Given the description of an element on the screen output the (x, y) to click on. 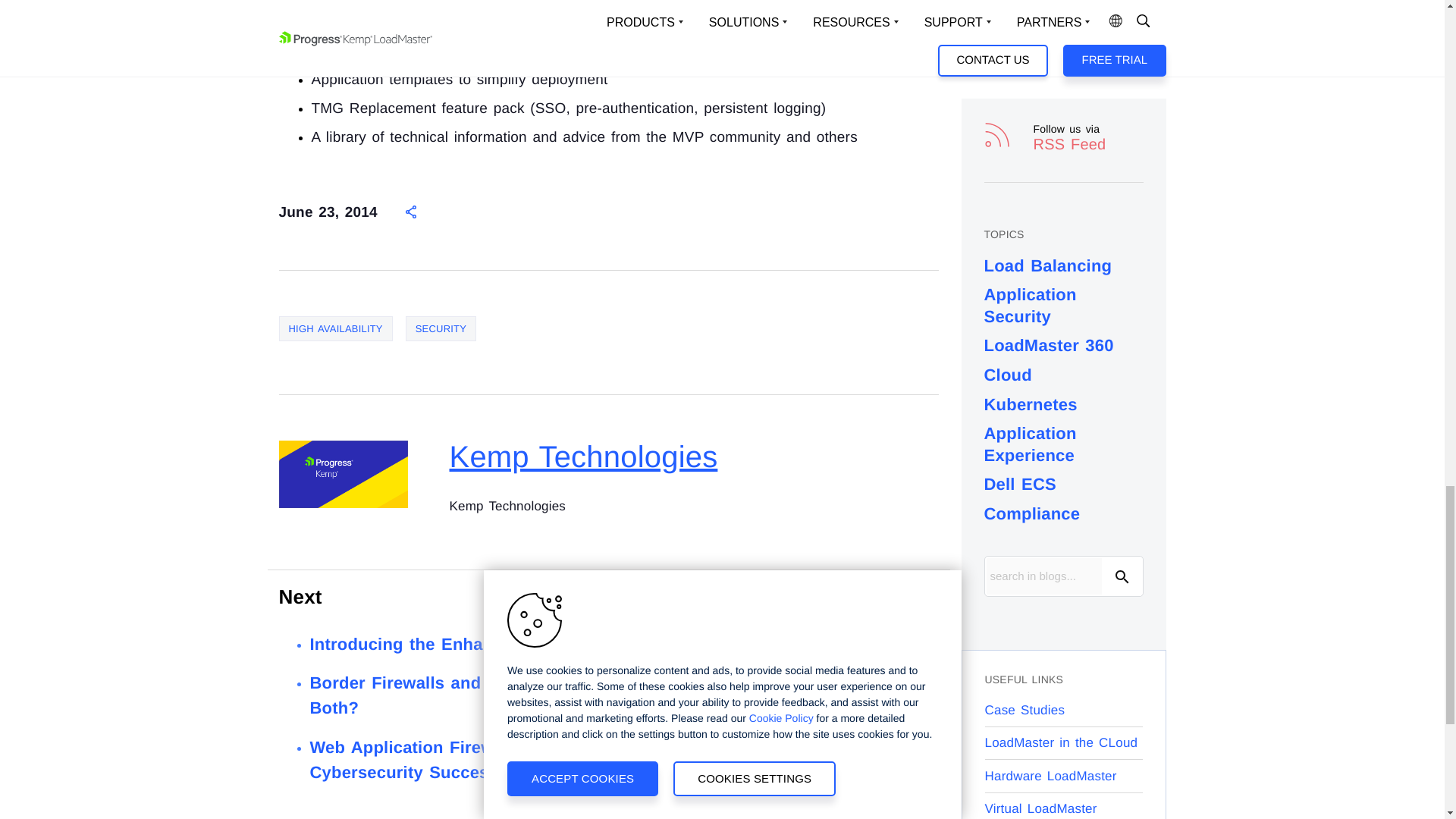
social-image (343, 473)
